Given the description of an element on the screen output the (x, y) to click on. 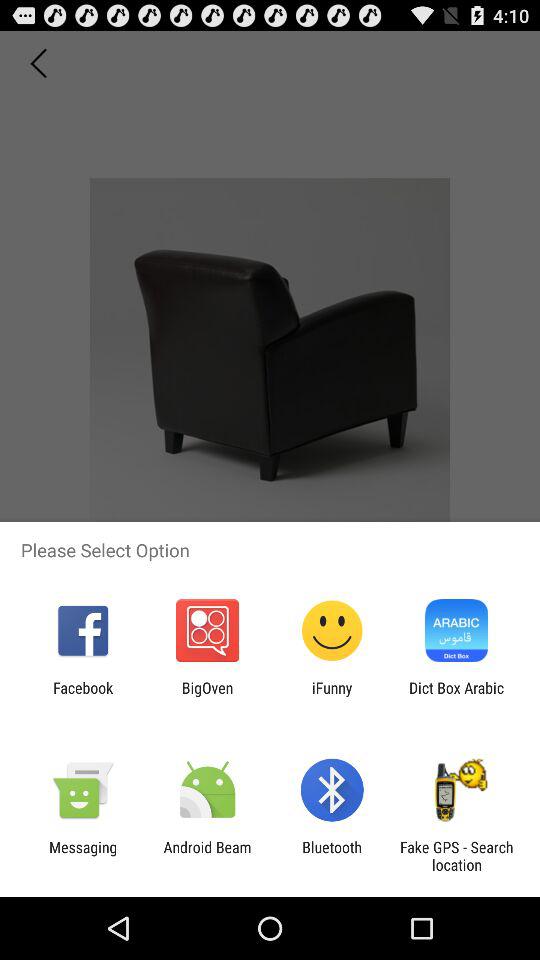
open app next to the bigoven (83, 696)
